Given the description of an element on the screen output the (x, y) to click on. 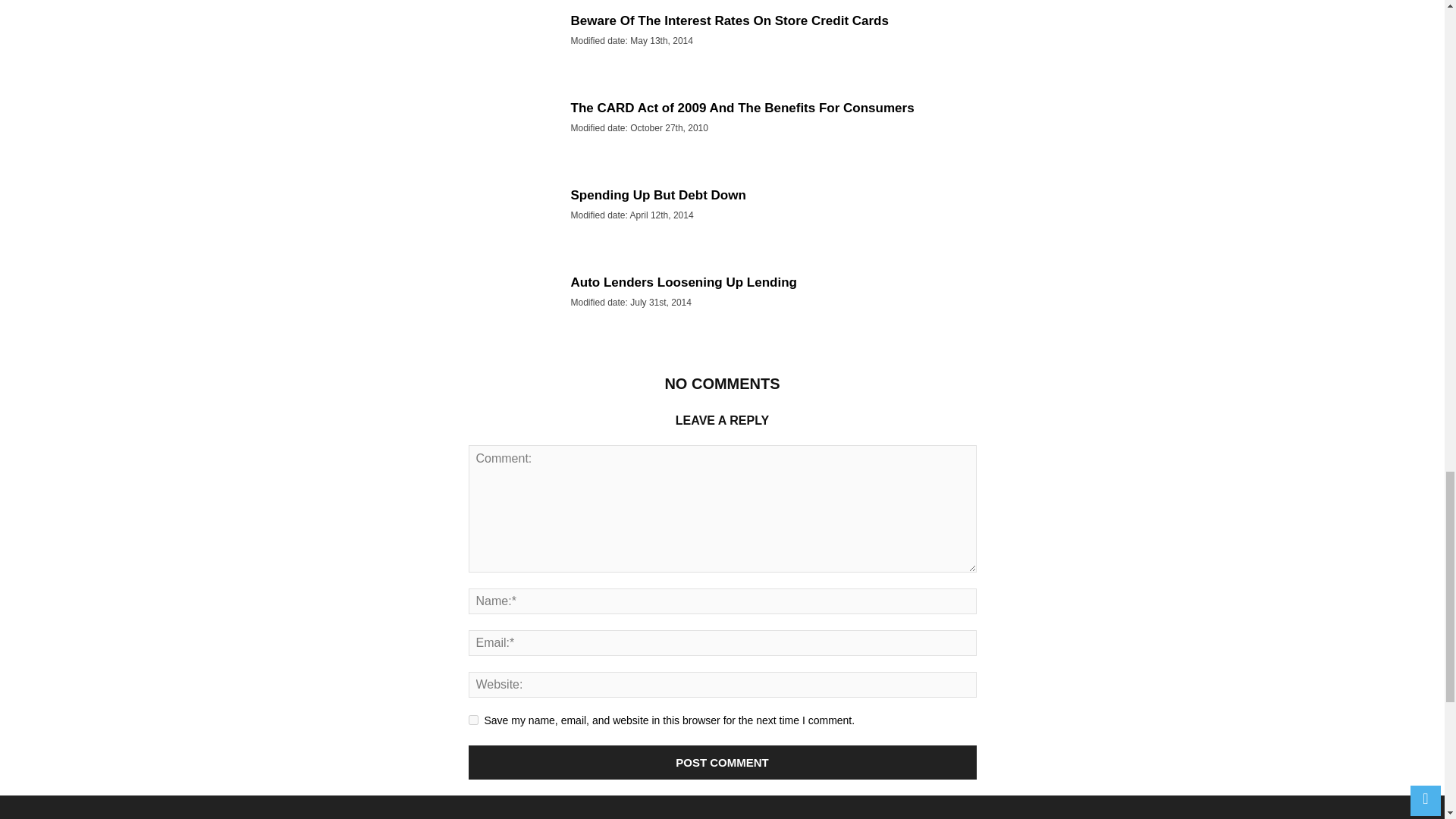
Spending Up But Debt Down (657, 195)
The CARD Act of 2009 And The Benefits For Consumers (742, 107)
Beware Of The Interest Rates On Store Credit Cards (729, 20)
Post Comment (722, 762)
yes (473, 719)
